Given the description of an element on the screen output the (x, y) to click on. 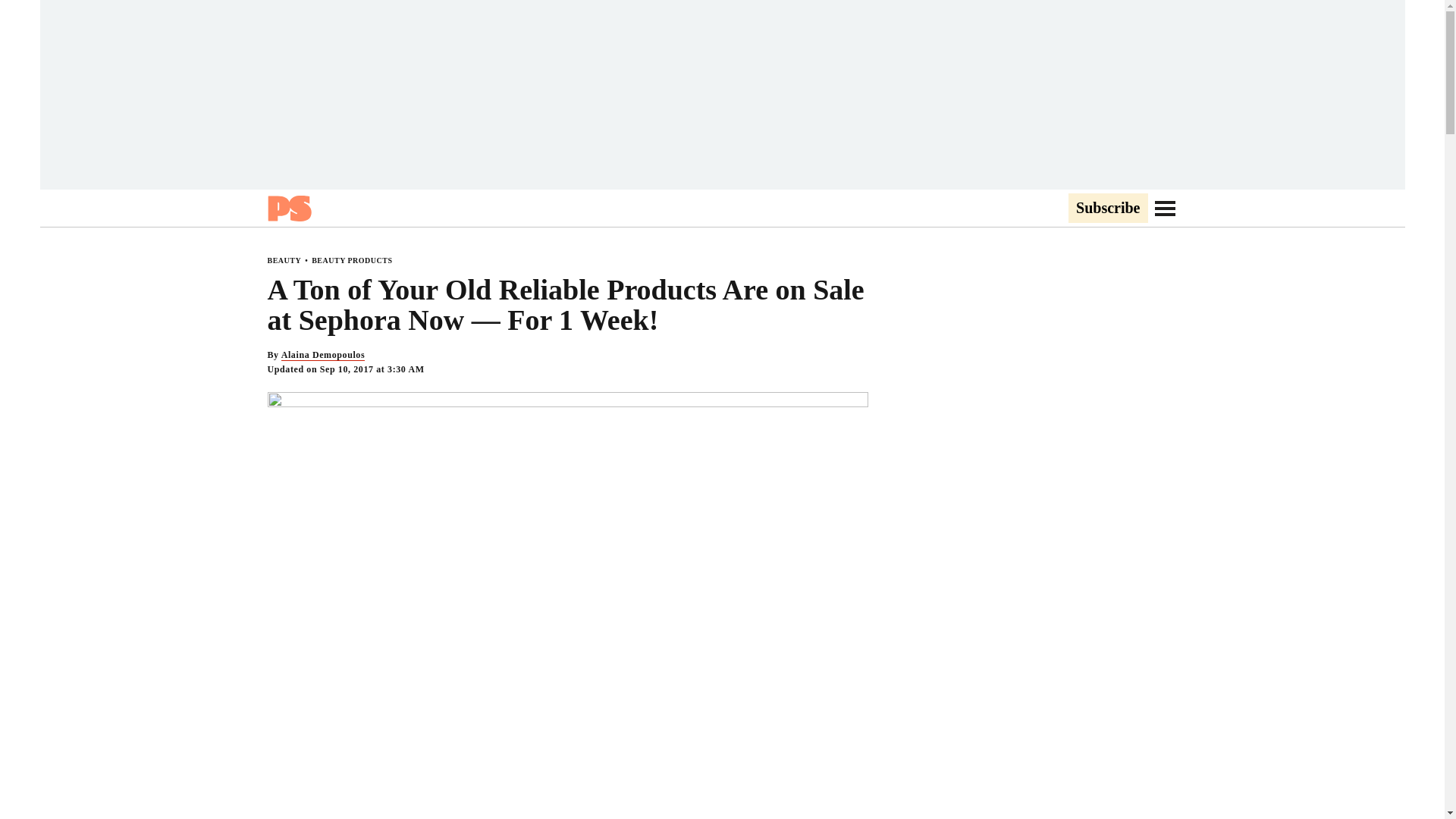
Go to Navigation (1164, 207)
BEAUTY (283, 260)
Popsugar (288, 208)
Go to Navigation (1164, 207)
Subscribe (1107, 208)
Alaina Demopoulos (323, 355)
BEAUTY PRODUCTS (351, 260)
